Given the description of an element on the screen output the (x, y) to click on. 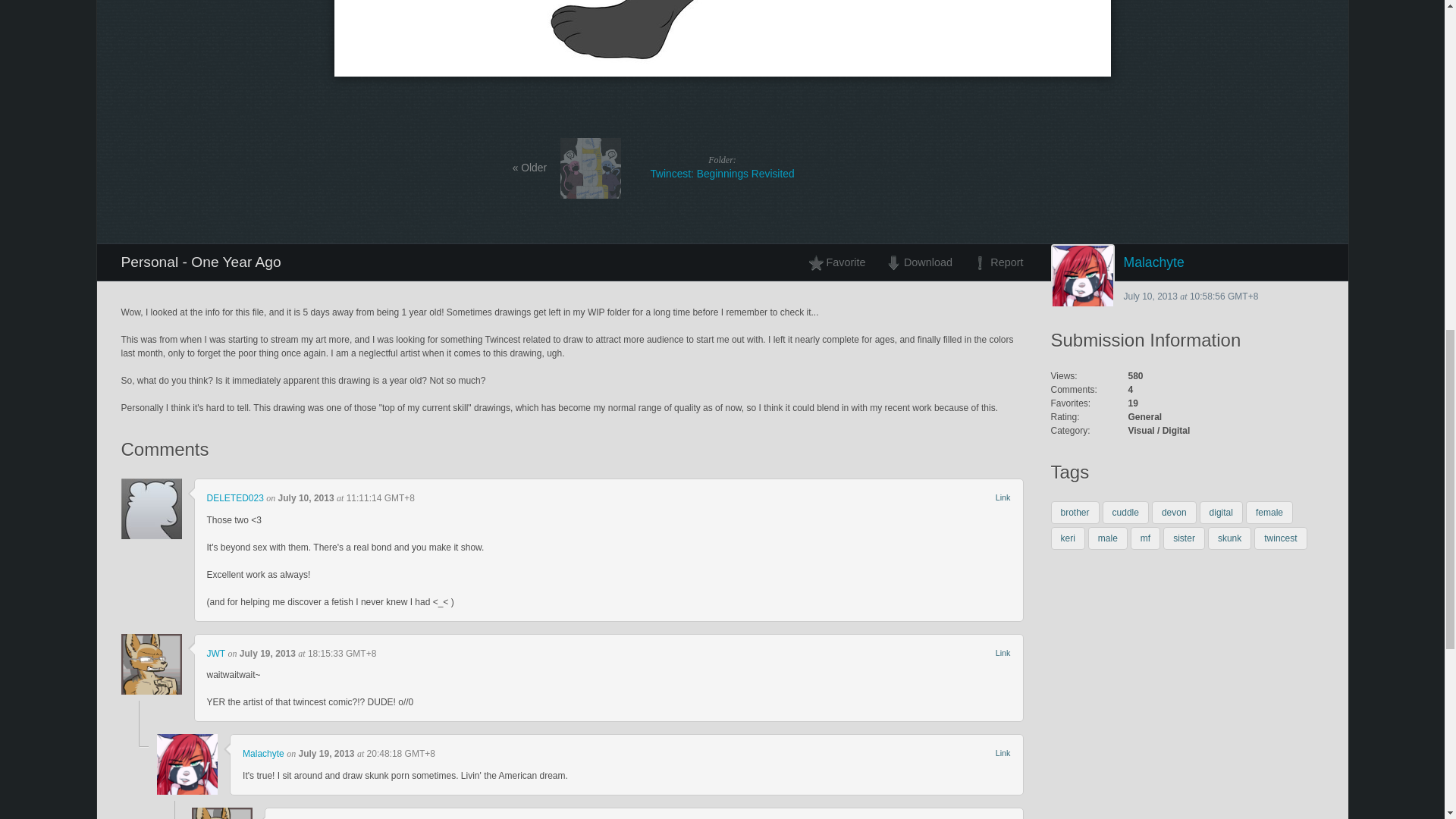
female (1269, 512)
devon (1173, 512)
DELETED023 (234, 498)
Link (1002, 497)
cuddle (1125, 512)
keri (1067, 538)
Favorite (841, 262)
twincest (1279, 538)
sister (1184, 538)
skunk (1229, 538)
male (1106, 538)
mf (1145, 538)
brother (1075, 512)
digital (1221, 512)
